Given the description of an element on the screen output the (x, y) to click on. 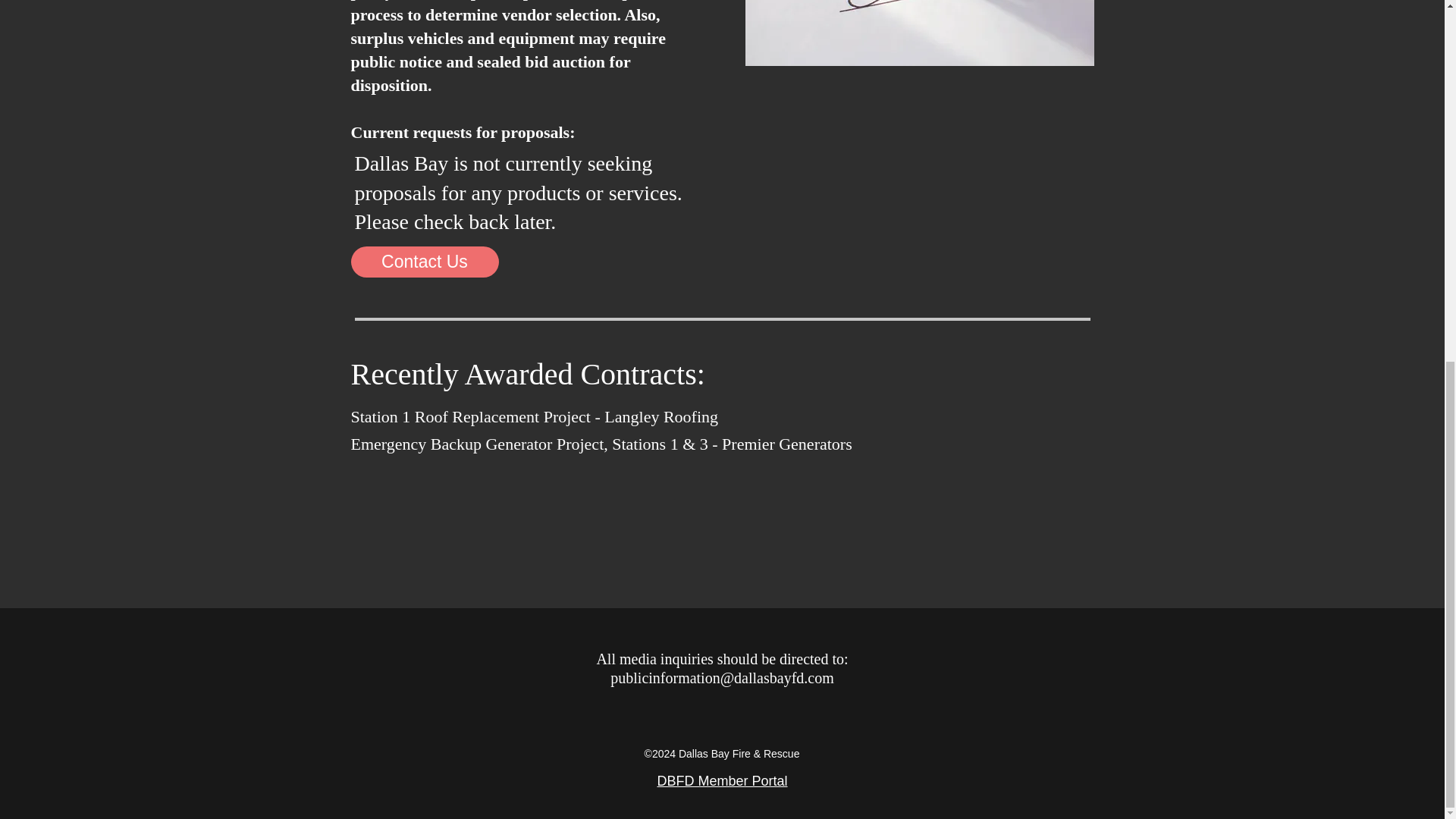
DBFD Member Portal (721, 780)
Contact Us (423, 261)
